Given the description of an element on the screen output the (x, y) to click on. 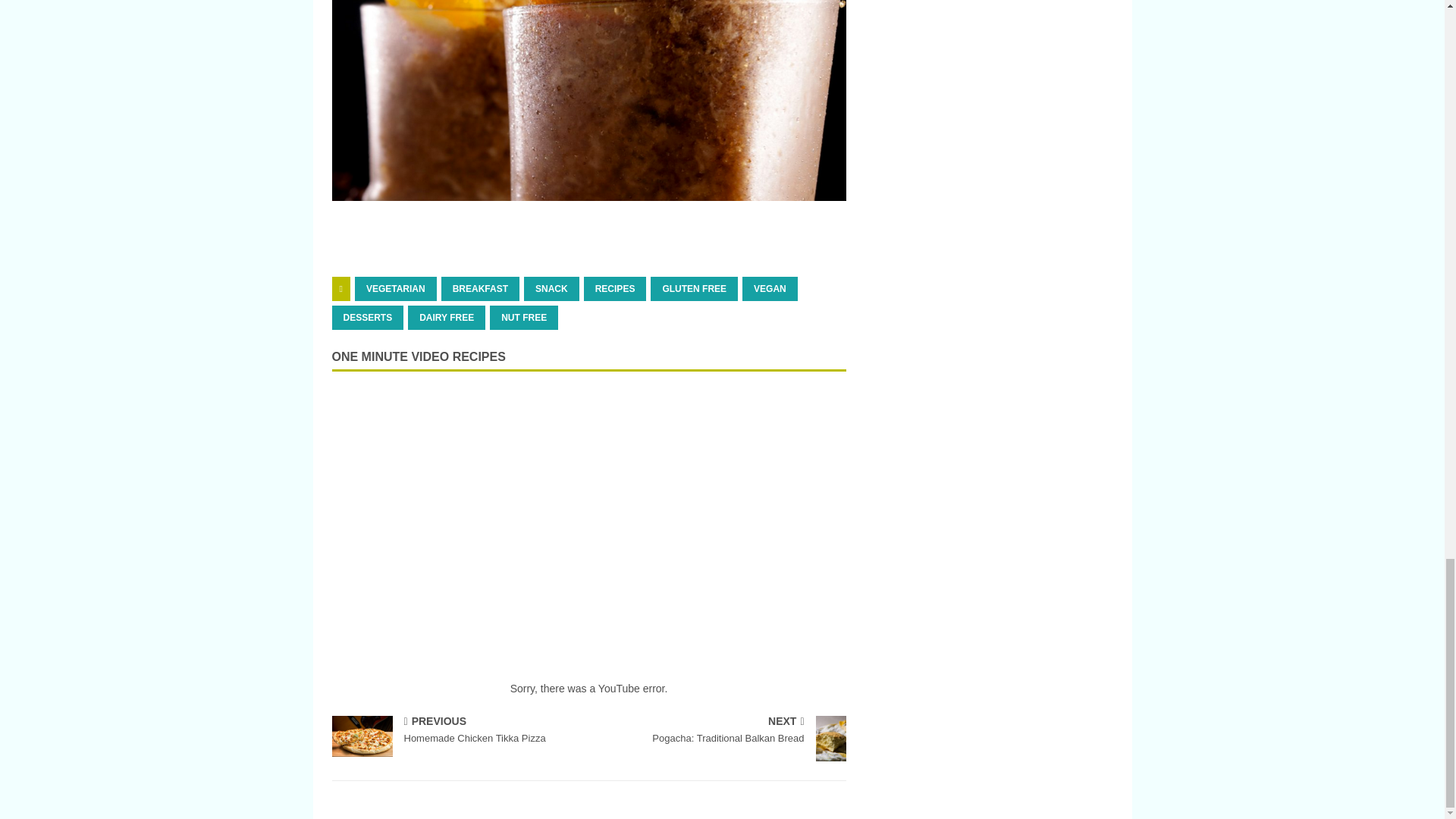
VEGAN (769, 288)
BREAKFAST (480, 288)
SNACK (551, 288)
NUT FREE (523, 317)
DESSERTS (367, 317)
DAIRY FREE (445, 317)
VEGETARIAN (395, 288)
GLUTEN FREE (694, 288)
RECIPES (614, 288)
